Given the description of an element on the screen output the (x, y) to click on. 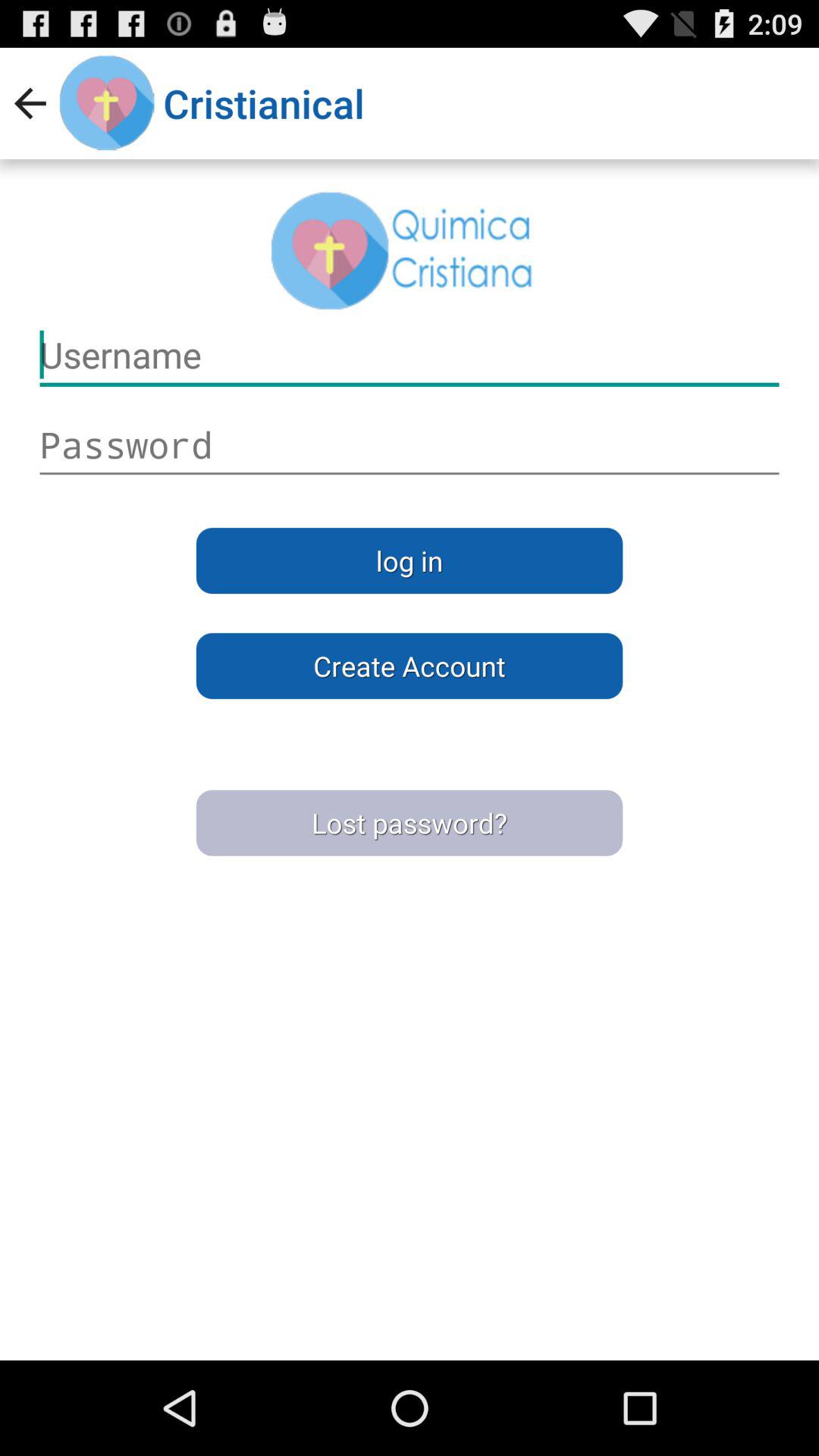
password (409, 445)
